Given the description of an element on the screen output the (x, y) to click on. 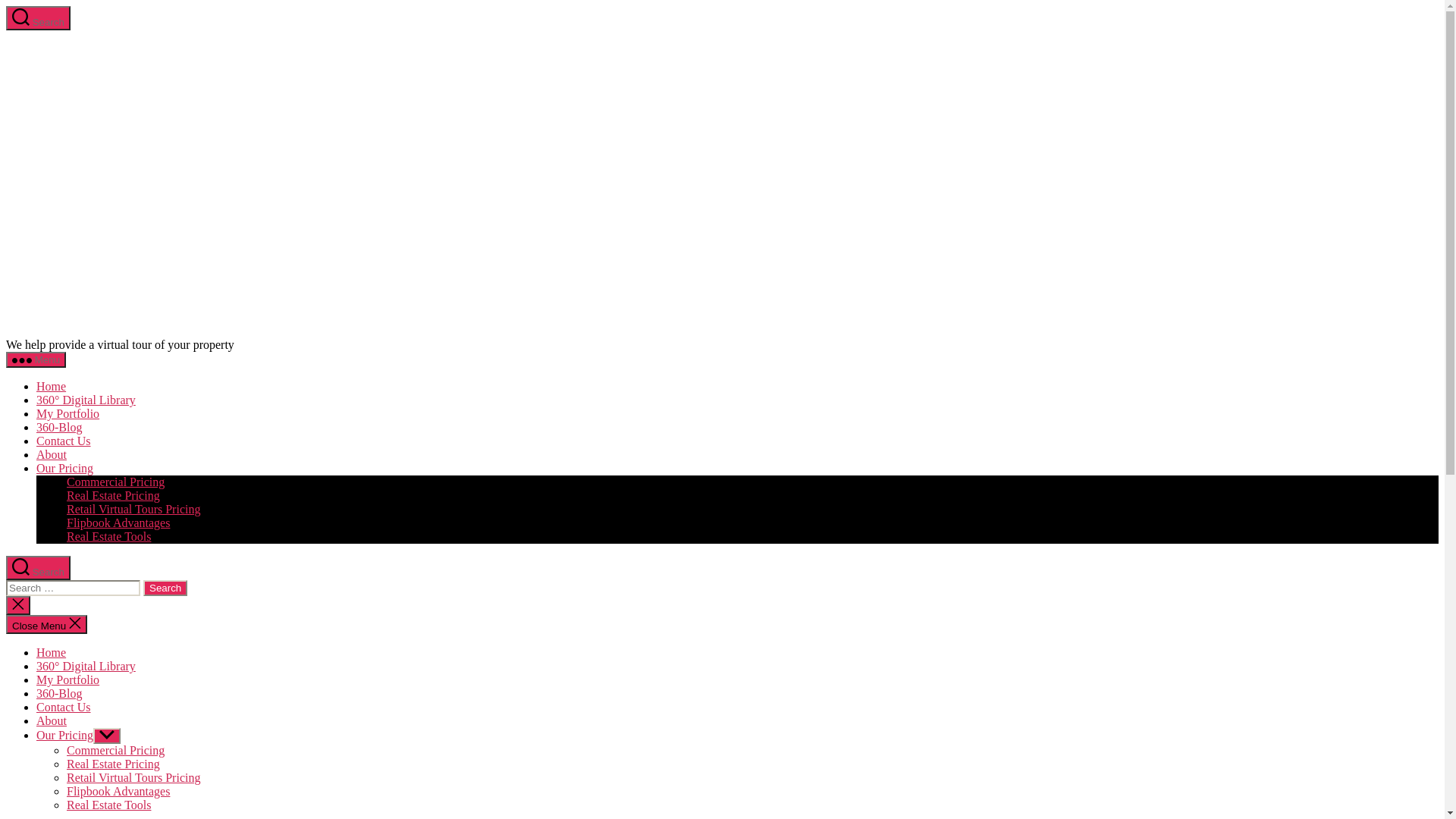
Search Element type: text (165, 588)
Real Estate Tools Element type: text (108, 536)
About Element type: text (51, 454)
Home Element type: text (50, 385)
About Element type: text (51, 720)
Our Pricing Element type: text (64, 467)
Real Estate Pricing Element type: text (113, 763)
Close search Element type: text (18, 605)
Flipbook Advantages Element type: text (117, 790)
Search Element type: text (38, 18)
360-Blog Element type: text (58, 426)
360-Blog Element type: text (58, 693)
Real Estate Pricing Element type: text (113, 495)
Commercial Pricing Element type: text (115, 749)
Show sub menu Element type: text (106, 735)
Retail Virtual Tours Pricing Element type: text (133, 508)
My Portfolio Element type: text (67, 679)
Our Pricing Element type: text (64, 734)
Menu Element type: text (35, 359)
My Portfolio Element type: text (67, 413)
Real Estate Tools Element type: text (108, 804)
Contact Us Element type: text (63, 440)
Home Element type: text (50, 652)
Close Menu Element type: text (46, 624)
Search Element type: text (38, 567)
Flipbook Advantages Element type: text (117, 522)
Commercial Pricing Element type: text (115, 481)
Skip to the content Element type: text (5, 5)
Retail Virtual Tours Pricing Element type: text (133, 777)
Contact Us Element type: text (63, 706)
